Given the description of an element on the screen output the (x, y) to click on. 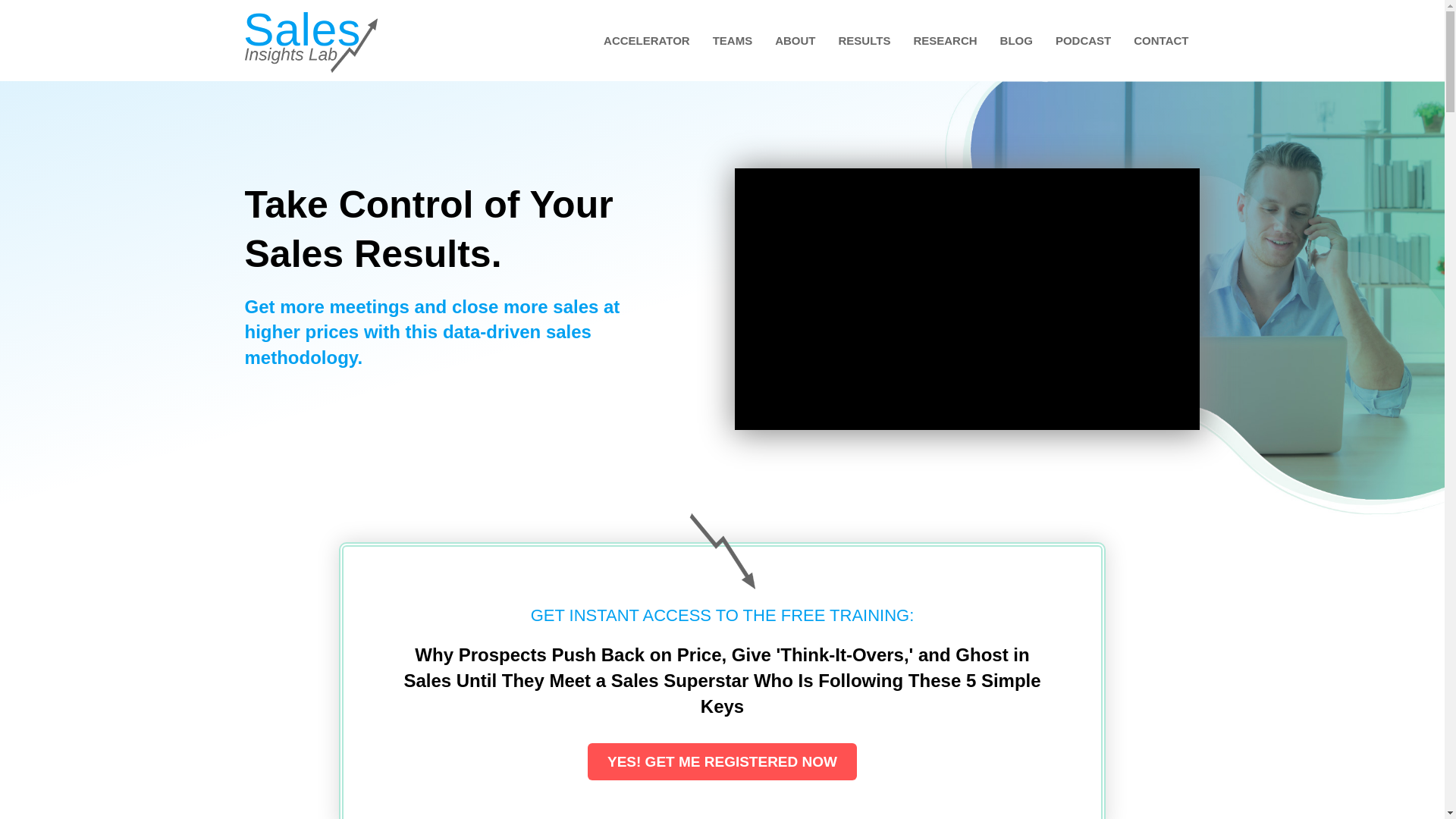
TEAMS (732, 40)
RESULTS (864, 40)
ABOUT (794, 40)
CONTACT (1160, 40)
RESEARCH (944, 40)
BLOG (1015, 40)
YES! GET ME REGISTERED NOW (722, 761)
PODCAST (1082, 40)
ACCELERATOR (646, 40)
